Given the description of an element on the screen output the (x, y) to click on. 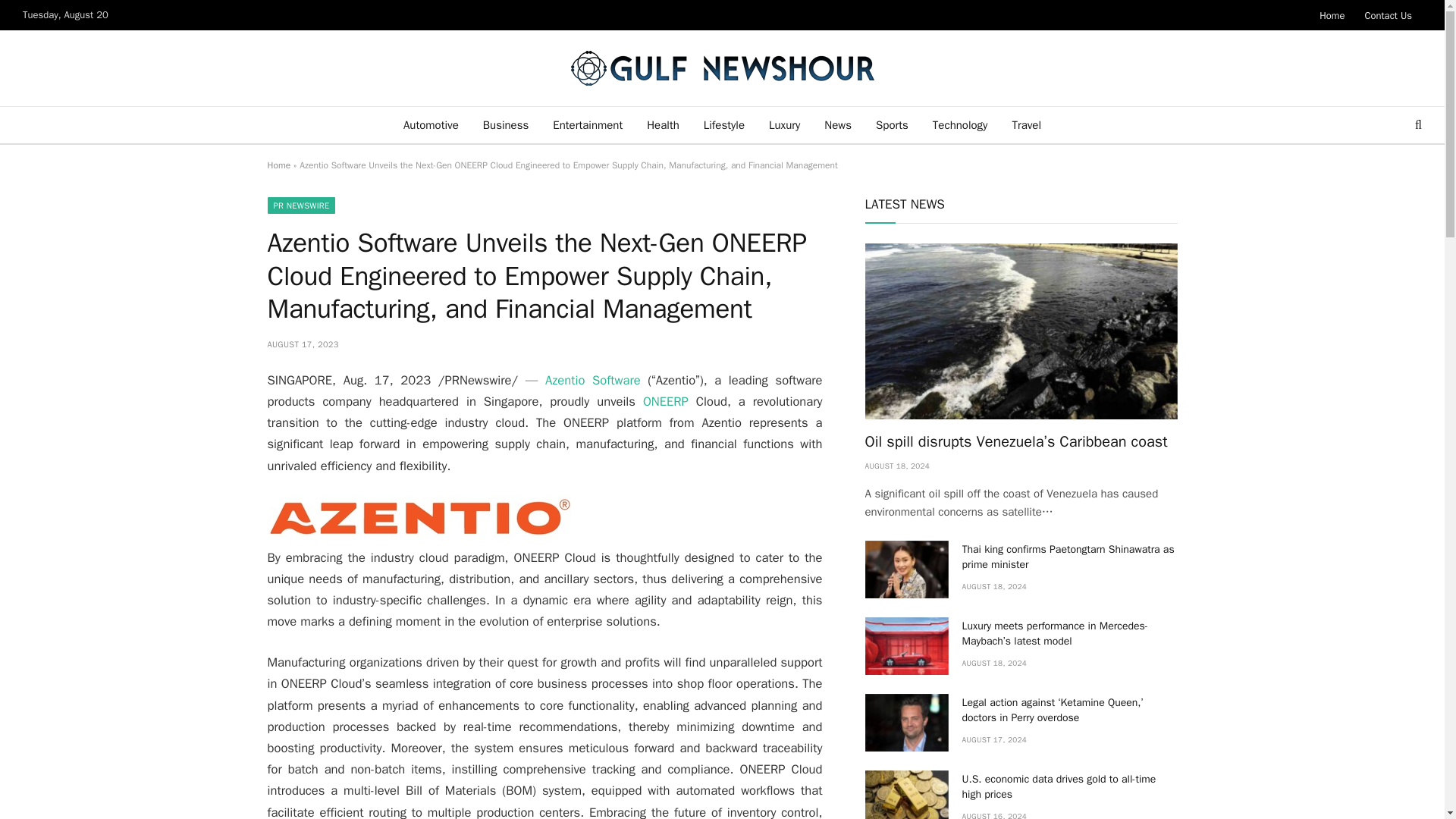
Gulf Newshour (722, 68)
Azentio Software (592, 380)
Sports (891, 125)
Luxury (784, 125)
Entertainment (587, 125)
Health (662, 125)
Home (1331, 15)
Home (277, 164)
Technology (960, 125)
Business (505, 125)
